Given the description of an element on the screen output the (x, y) to click on. 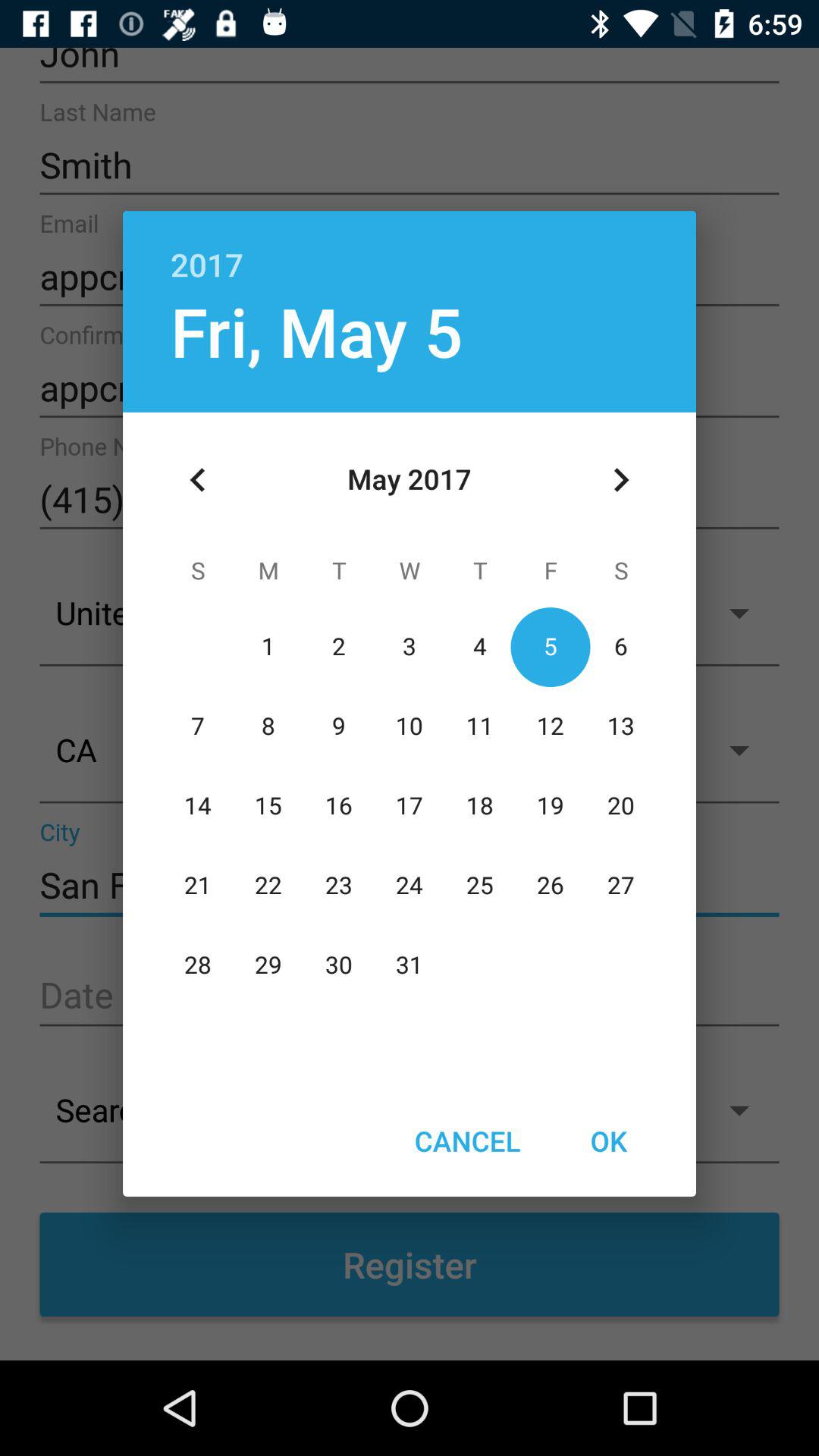
flip to the 2017 (409, 248)
